Given the description of an element on the screen output the (x, y) to click on. 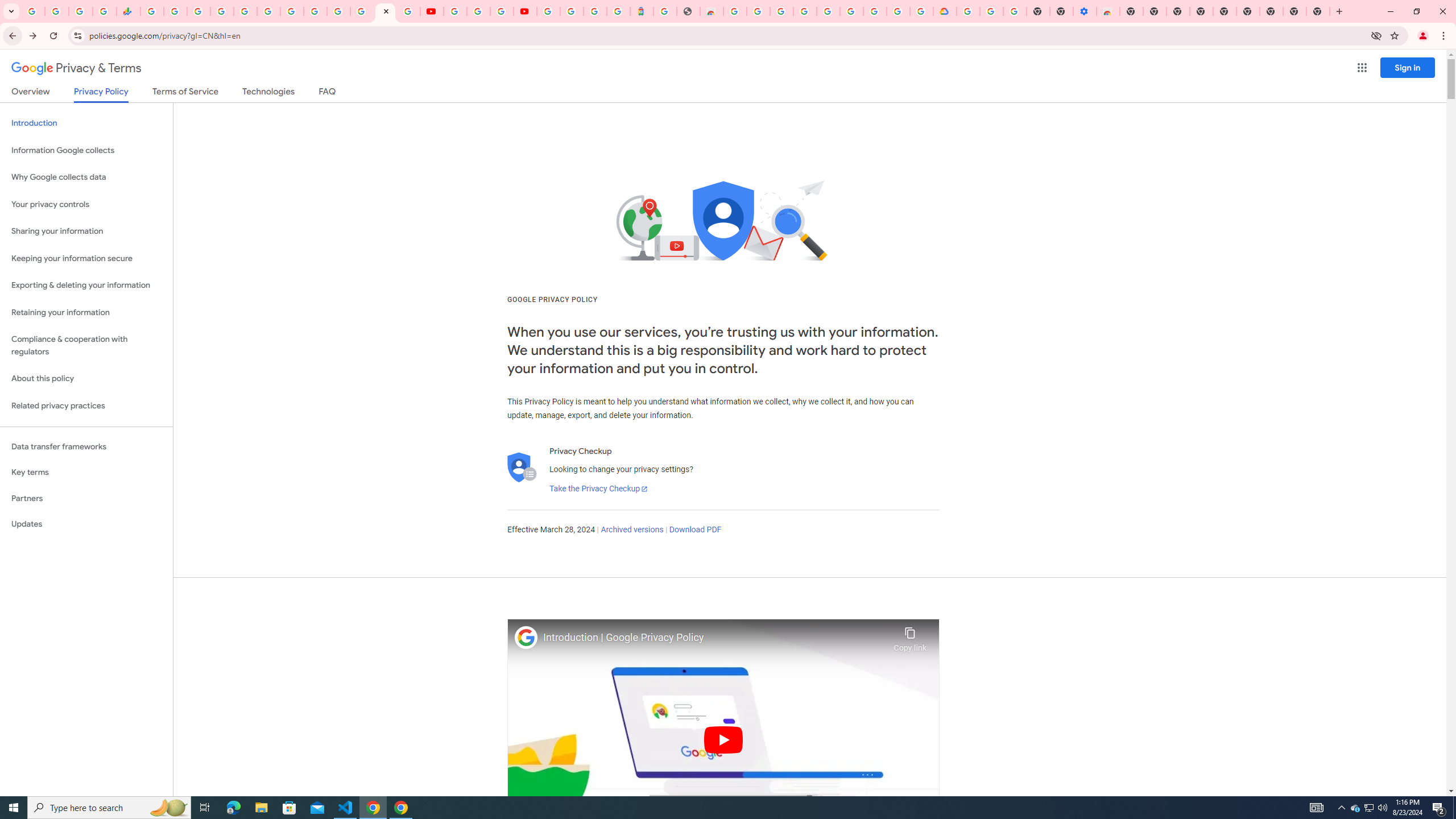
Archived versions (631, 529)
FAQ (327, 93)
New Tab (1318, 11)
YouTube (314, 11)
Compliance & cooperation with regulators (86, 345)
Browse the Google Chrome Community - Google Chrome Community (921, 11)
Data transfer frameworks (86, 446)
